Given the description of an element on the screen output the (x, y) to click on. 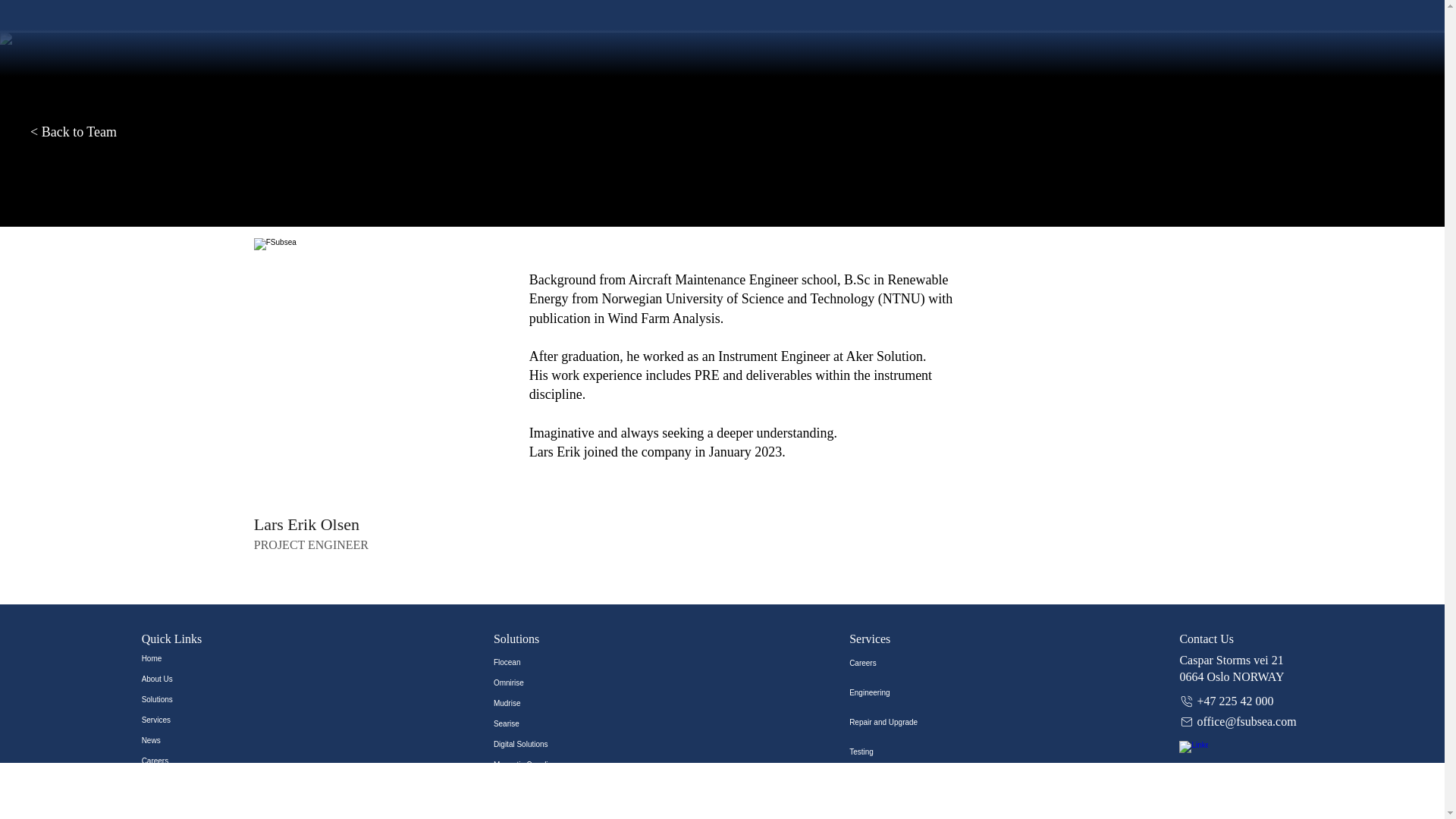
Solutions (178, 699)
Services (178, 720)
Magnetic Couplings (540, 764)
Flocean (540, 661)
Careers (178, 761)
Contact (178, 781)
Home (178, 658)
Engineering (900, 692)
Mudrise (540, 702)
Careers (900, 663)
